Given the description of an element on the screen output the (x, y) to click on. 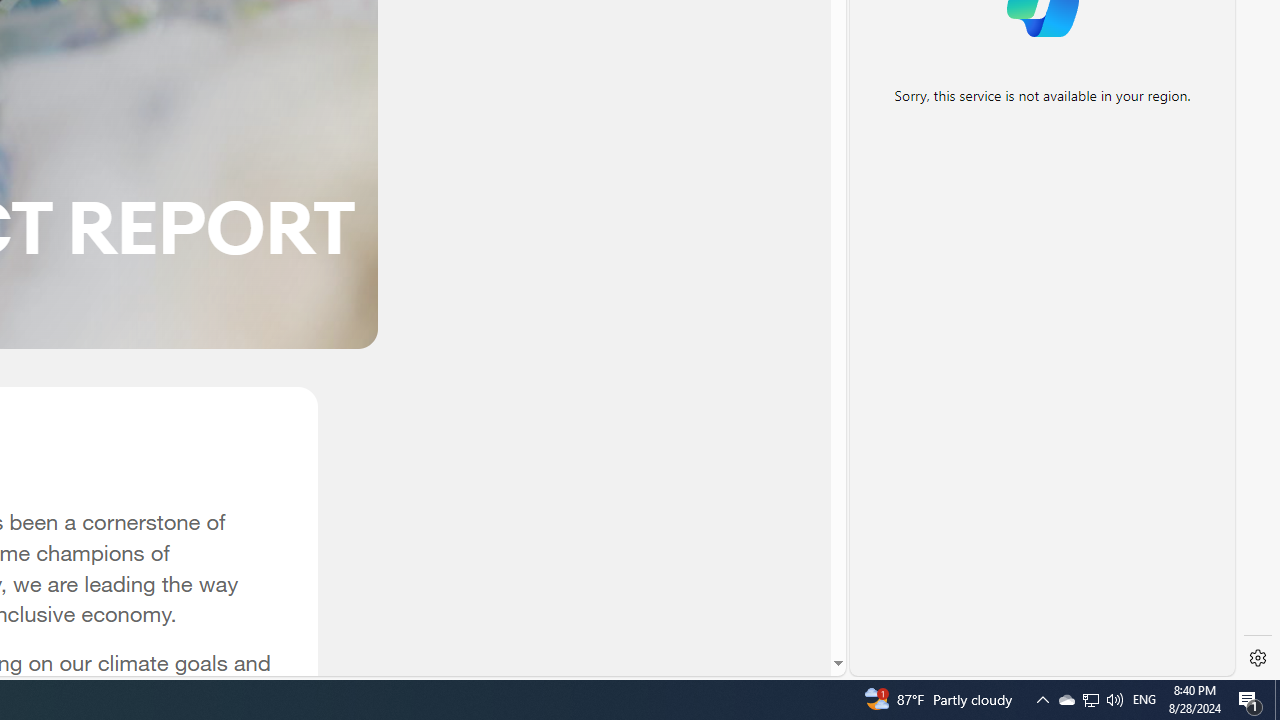
Settings (1258, 658)
